Given the description of an element on the screen output the (x, y) to click on. 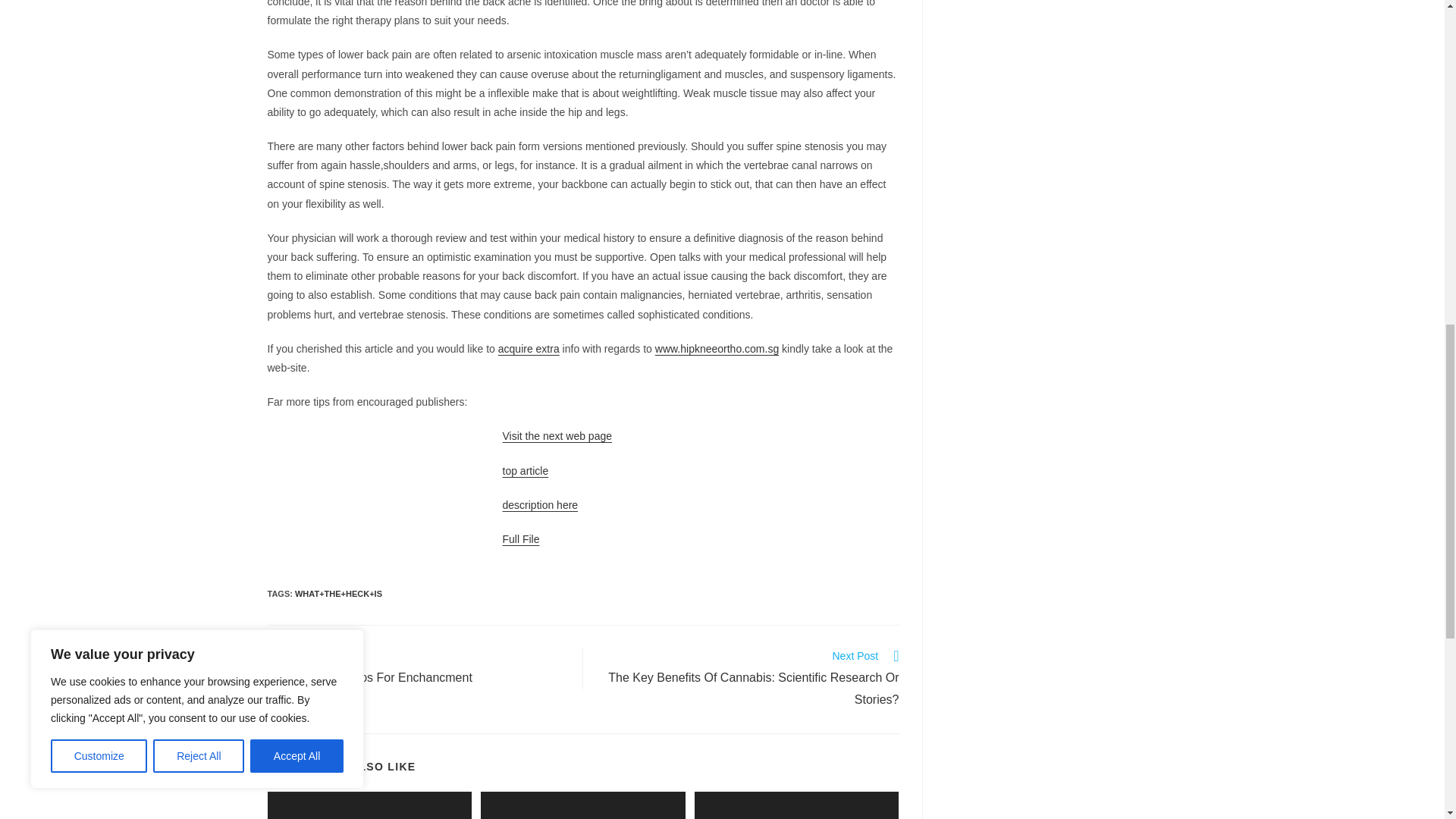
Visit the next web page (556, 435)
description here (540, 504)
top article (416, 668)
Full File (525, 470)
acquire extra (520, 539)
www.hipkneeortho.com.sg (528, 348)
